Given the description of an element on the screen output the (x, y) to click on. 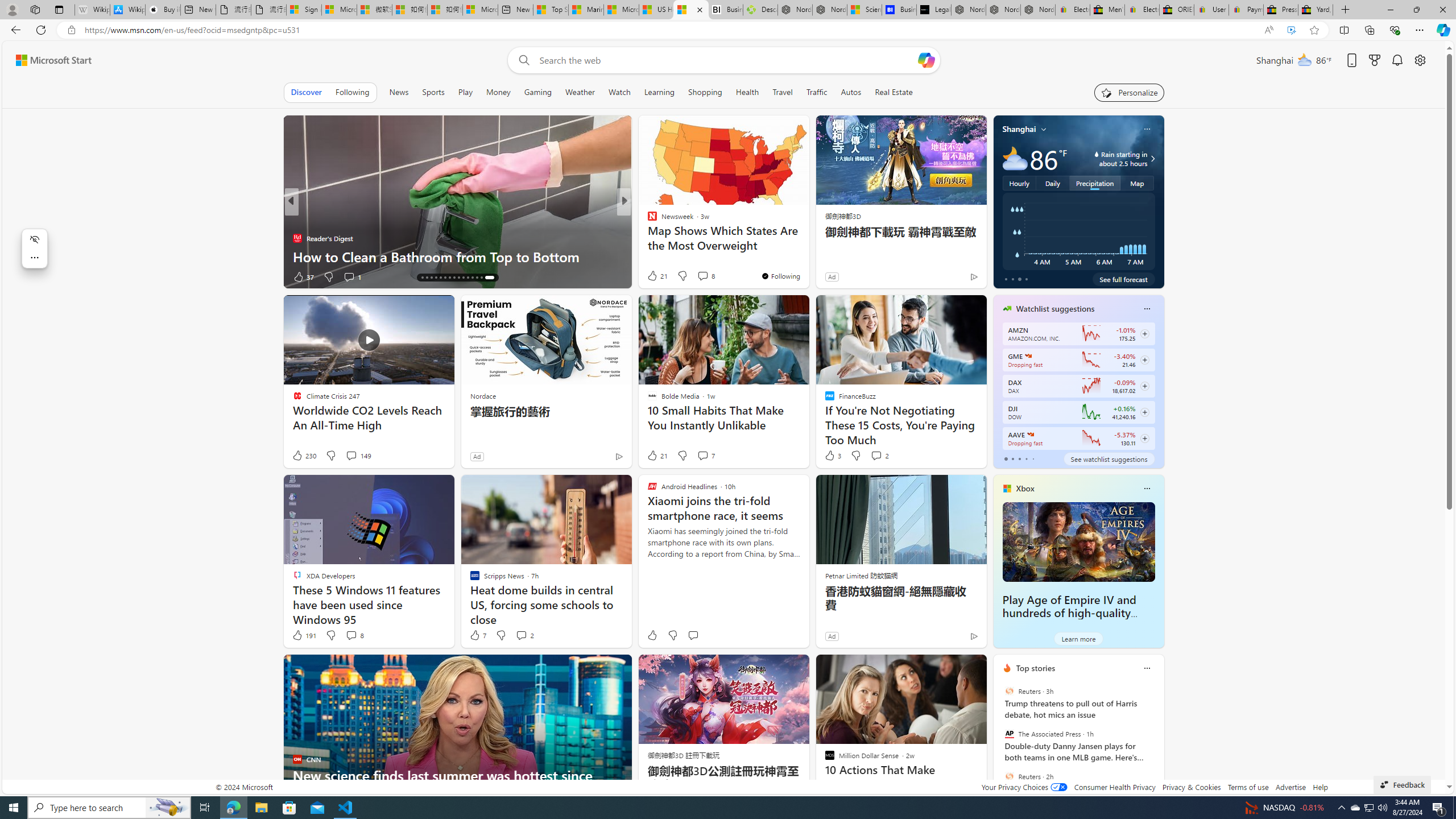
You're following MSNBC (949, 279)
Enhance video (1291, 29)
Real Estate (893, 92)
Shanghai (1018, 128)
Learning (658, 92)
Gaming (537, 92)
View comments 102 Comment (709, 276)
Severe Storms To Strike Plains To Great Lakes Early Week (807, 247)
Mostly cloudy (1014, 158)
257 Like (654, 276)
The Associated Press (1008, 733)
